Given the description of an element on the screen output the (x, y) to click on. 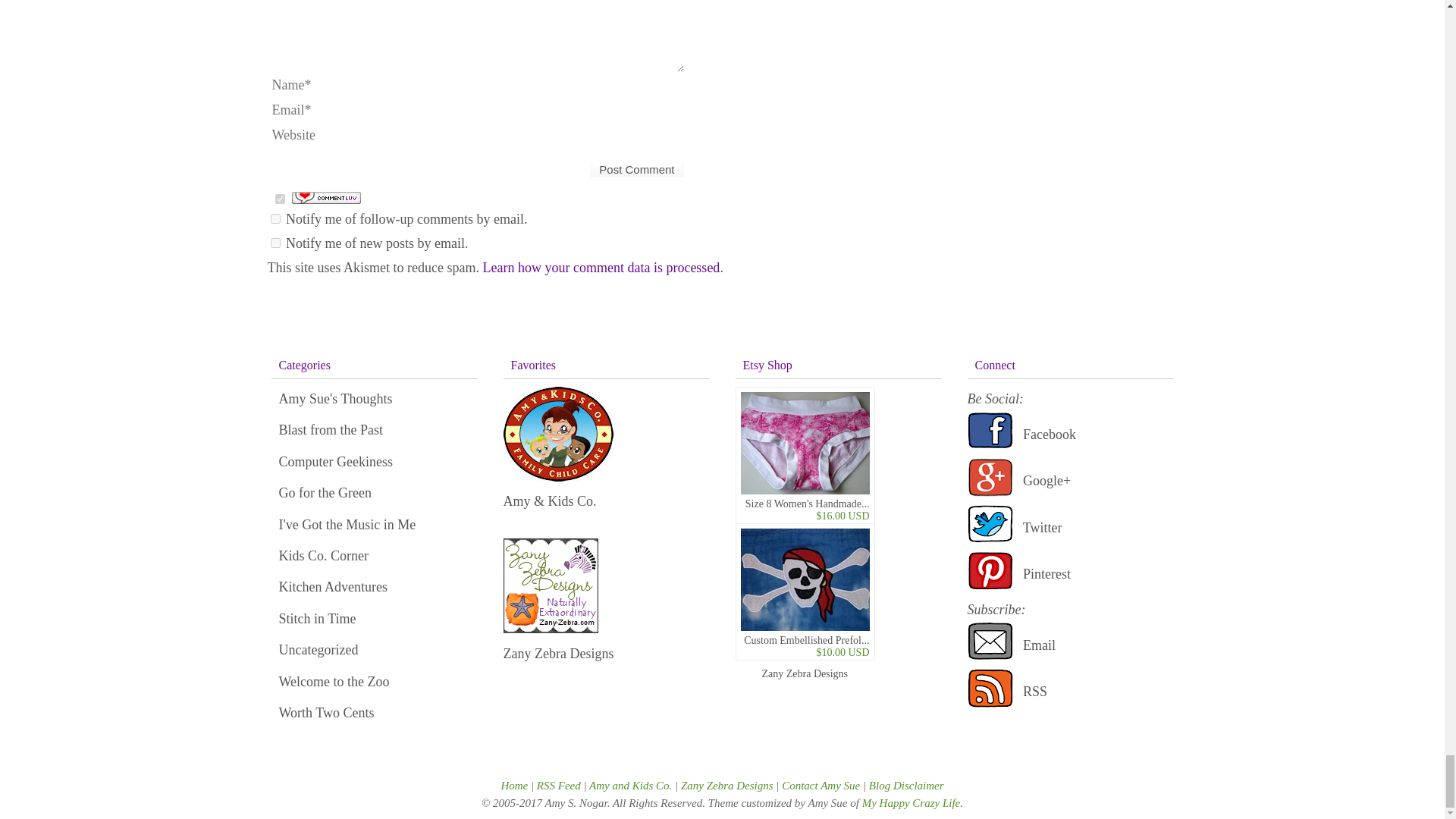
on (278, 198)
subscribe (274, 218)
subscribe (274, 243)
Post Comment (636, 169)
